Given the description of an element on the screen output the (x, y) to click on. 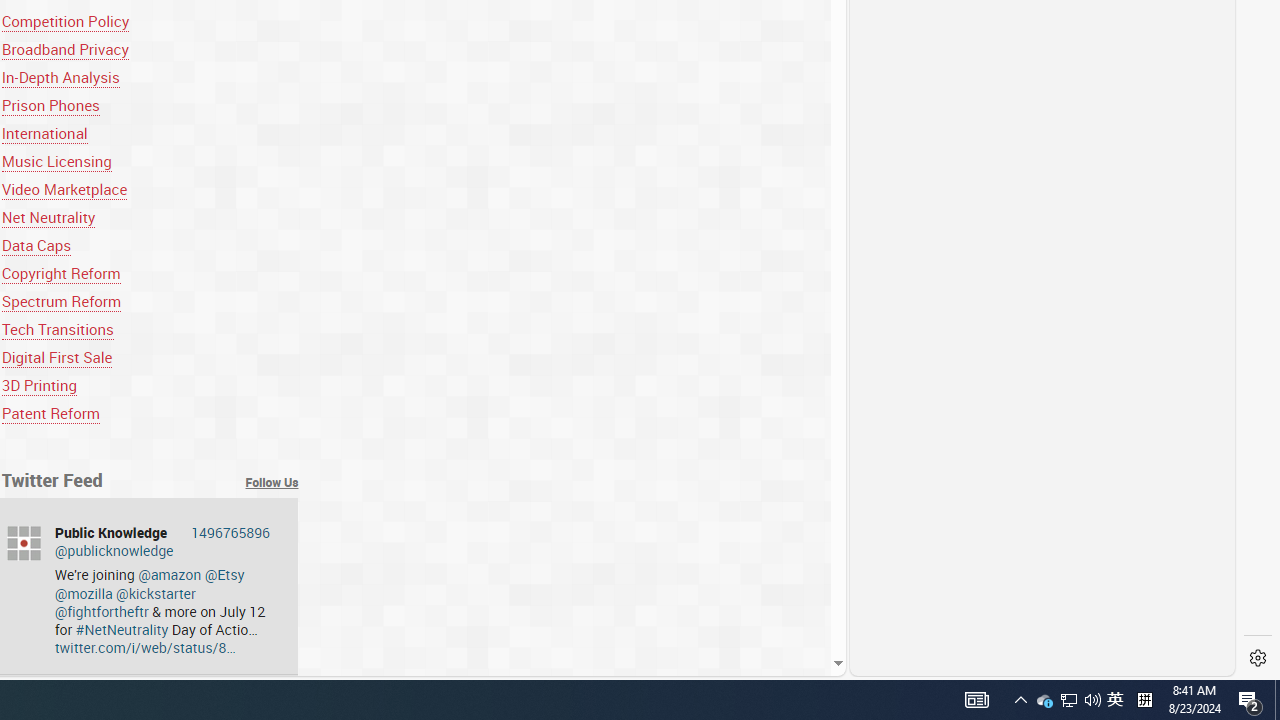
Digital First Sale (150, 357)
Prison Phones (50, 105)
Spectrum Reform (61, 300)
International (44, 133)
@kickstarter (155, 593)
Tech Transitions (57, 328)
Follow Us (271, 481)
Music Licensing (56, 161)
publicknowledge (24, 543)
3D Printing (38, 385)
Broadband Privacy (150, 48)
Music Licensing (150, 161)
Copyright Reform (61, 272)
